Given the description of an element on the screen output the (x, y) to click on. 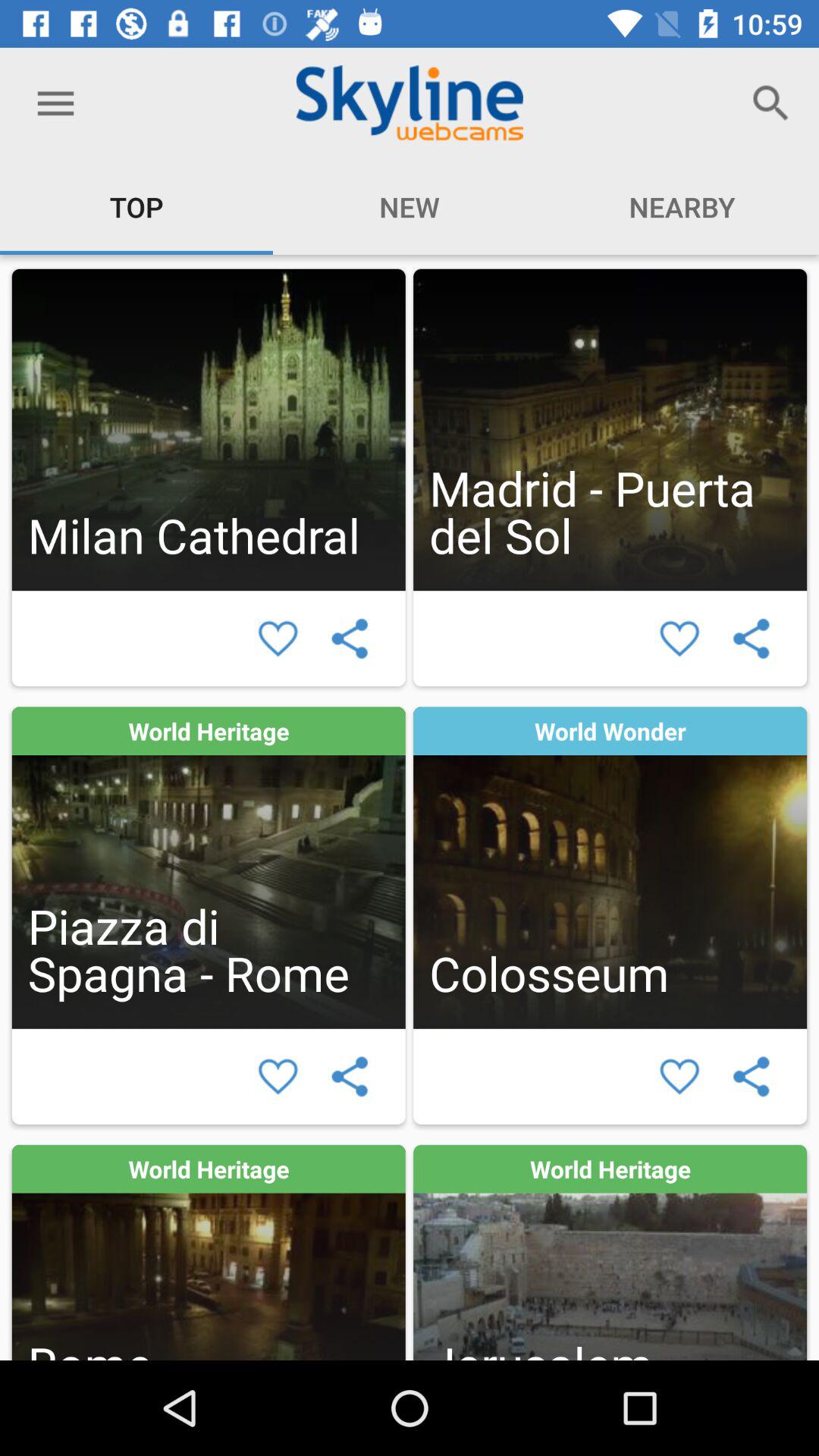
jerusalem option (610, 1252)
